Given the description of an element on the screen output the (x, y) to click on. 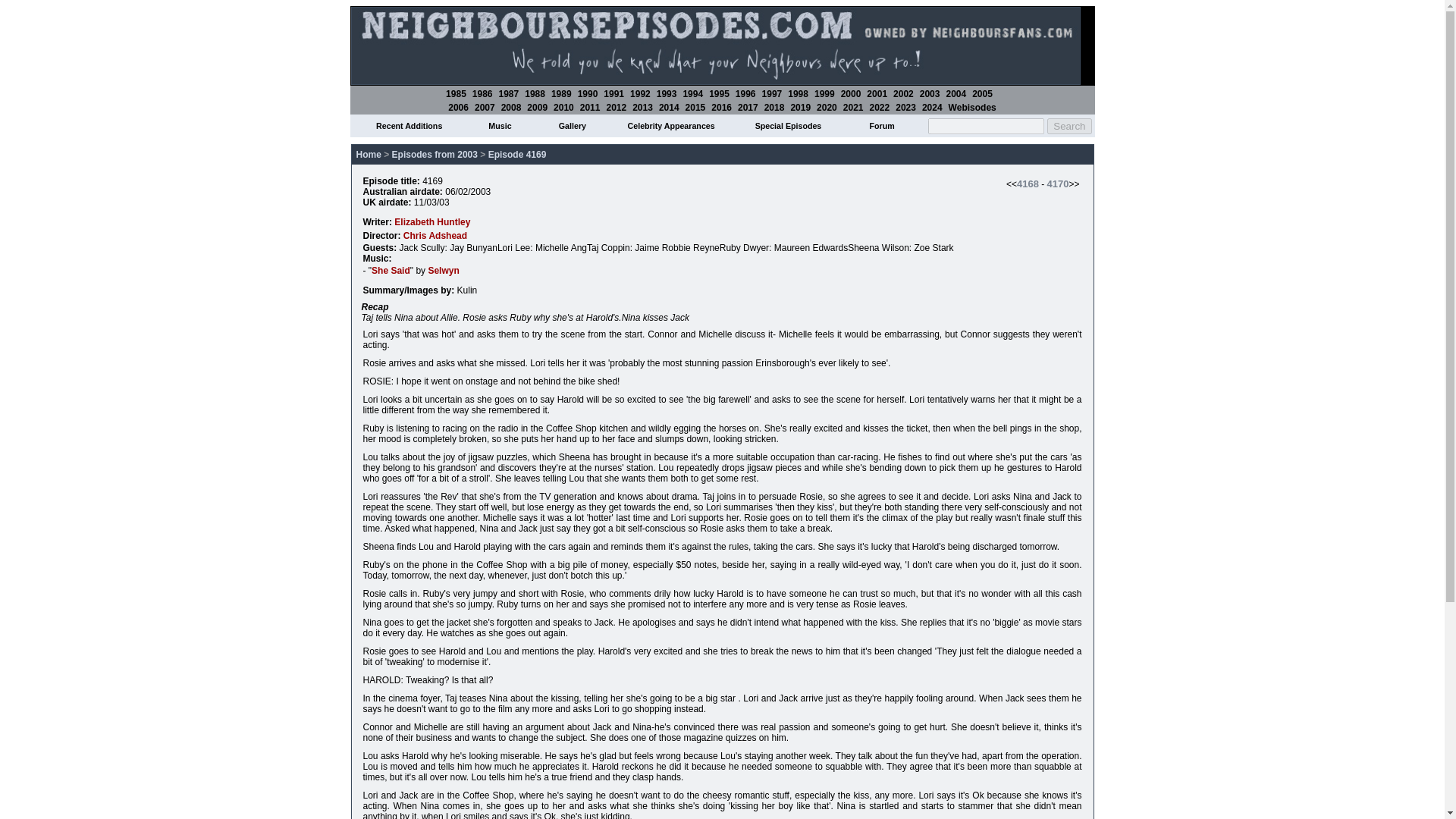
1995 (719, 93)
2019 (800, 107)
1987 (509, 93)
1997 (772, 93)
2005 (982, 93)
1998 (797, 93)
2008 (510, 107)
1988 (534, 93)
2001 (876, 93)
1996 (745, 93)
